Given the description of an element on the screen output the (x, y) to click on. 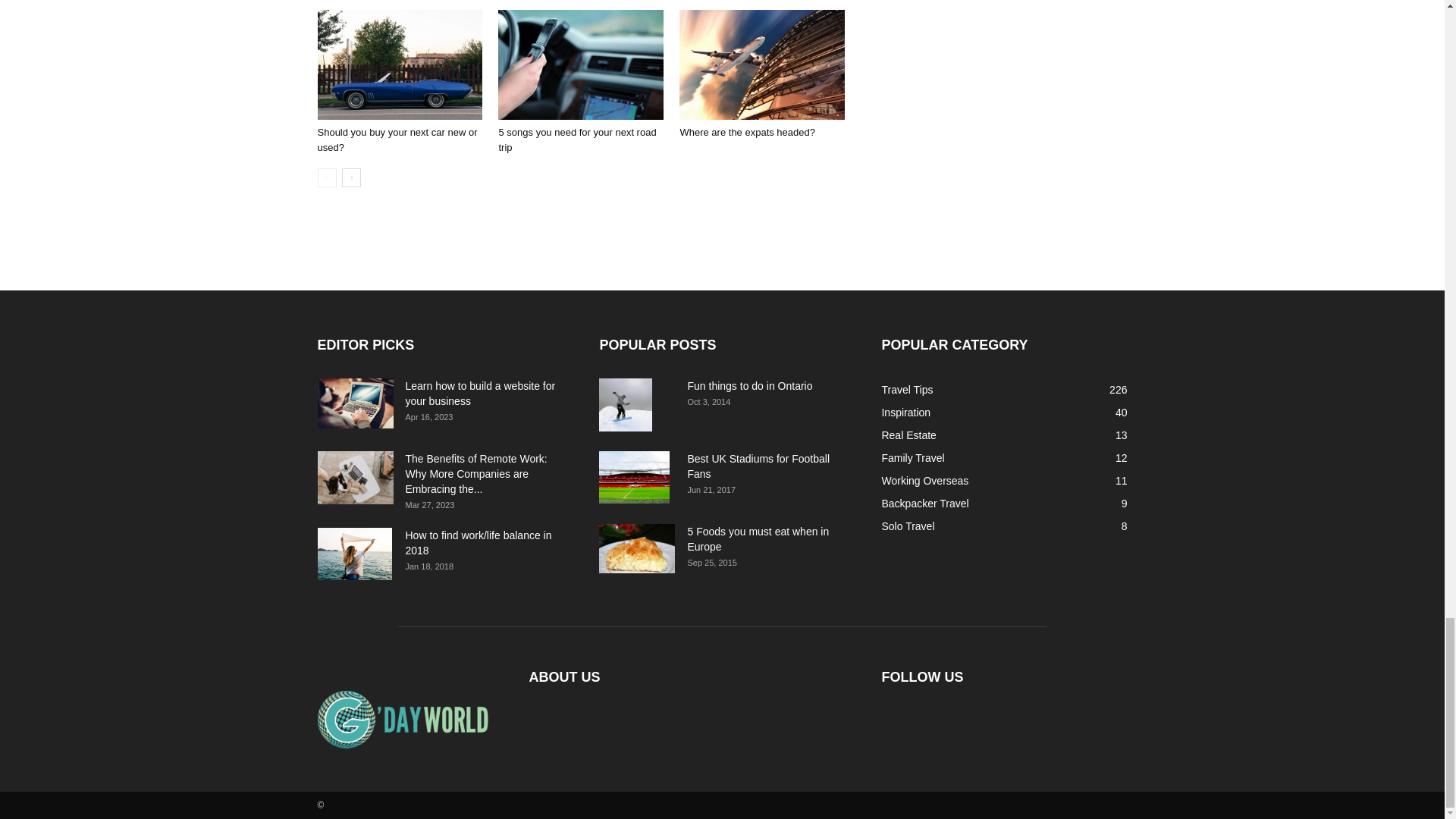
Learn how to build a website for your business (479, 393)
Where are the expats headed? (747, 132)
Learn how to build a website for your business (355, 403)
5 songs you need for your next road trip (576, 139)
Where are the expats headed? (761, 64)
Should you buy your next car new or used? (399, 64)
Should you buy your next car new or used? (397, 139)
5 songs you need for your next road trip (580, 64)
